Given the description of an element on the screen output the (x, y) to click on. 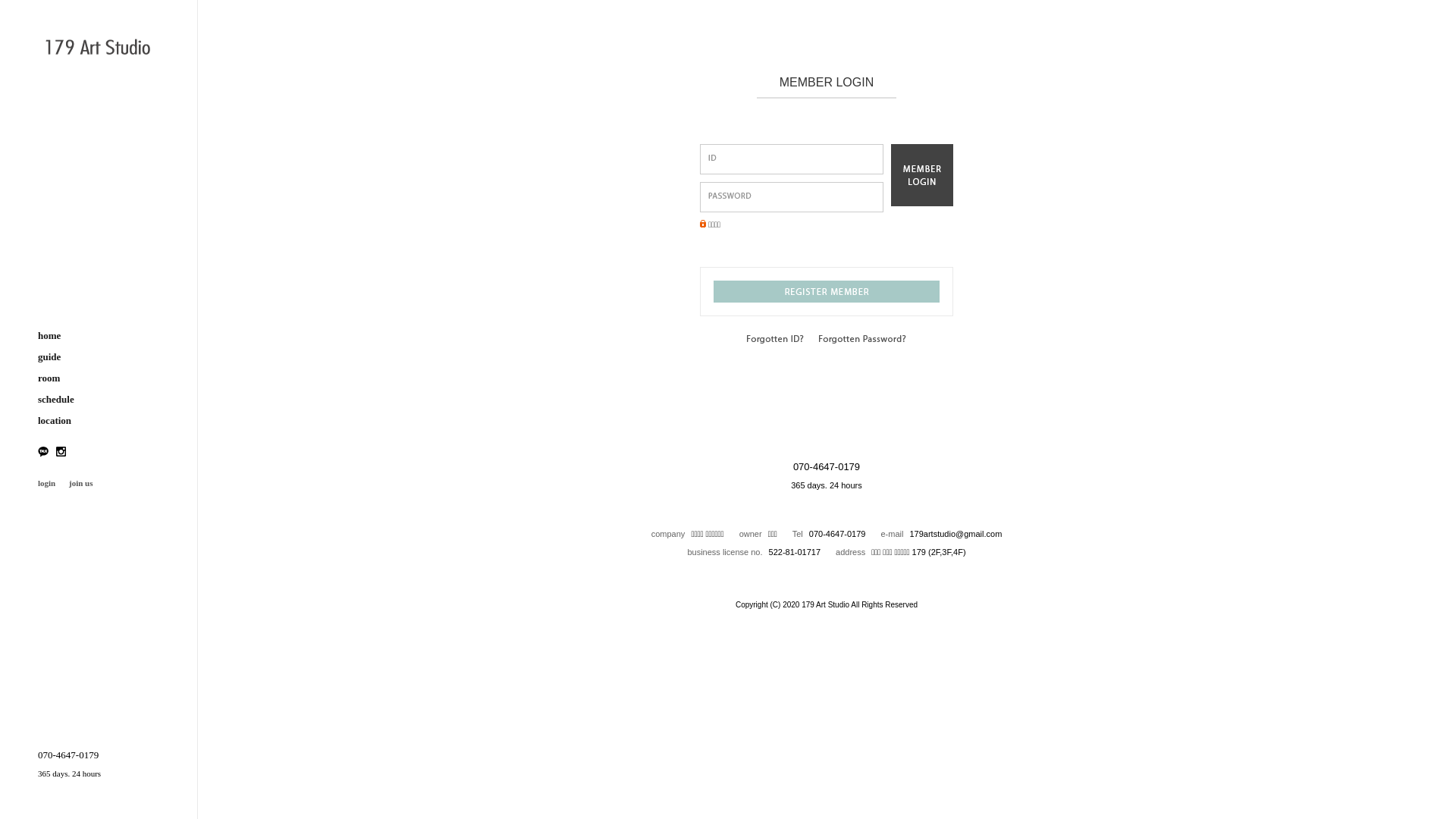
guide Element type: text (98, 356)
login Element type: text (46, 482)
room Element type: text (98, 378)
home Element type: text (98, 335)
join us Element type: text (81, 482)
location Element type: text (98, 420)
schedule Element type: text (98, 399)
